Given the description of an element on the screen output the (x, y) to click on. 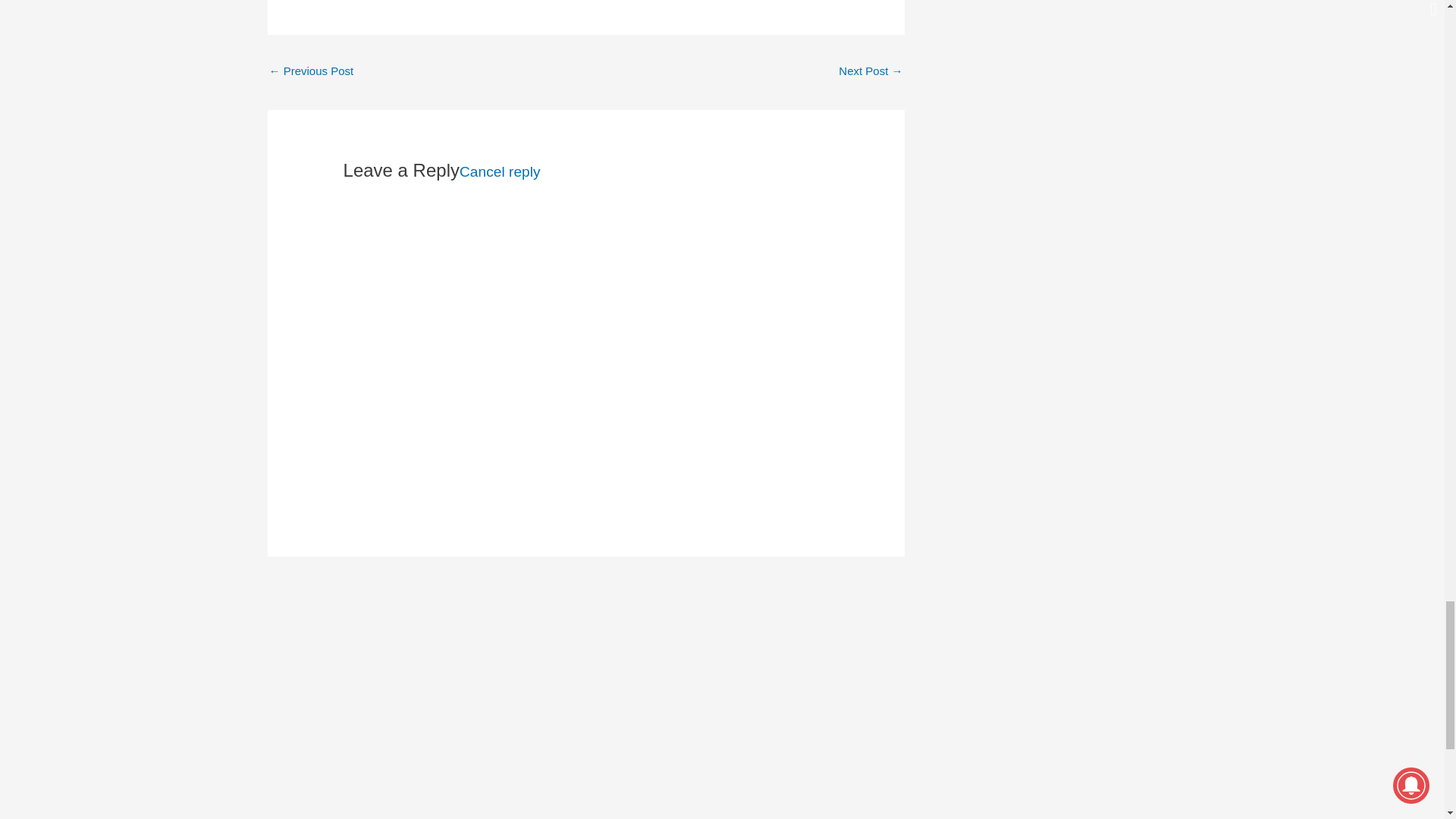
Cancel reply (500, 171)
Routine Checking - Merits and Demerits (310, 71)
Industrialization In India (870, 71)
